Given the description of an element on the screen output the (x, y) to click on. 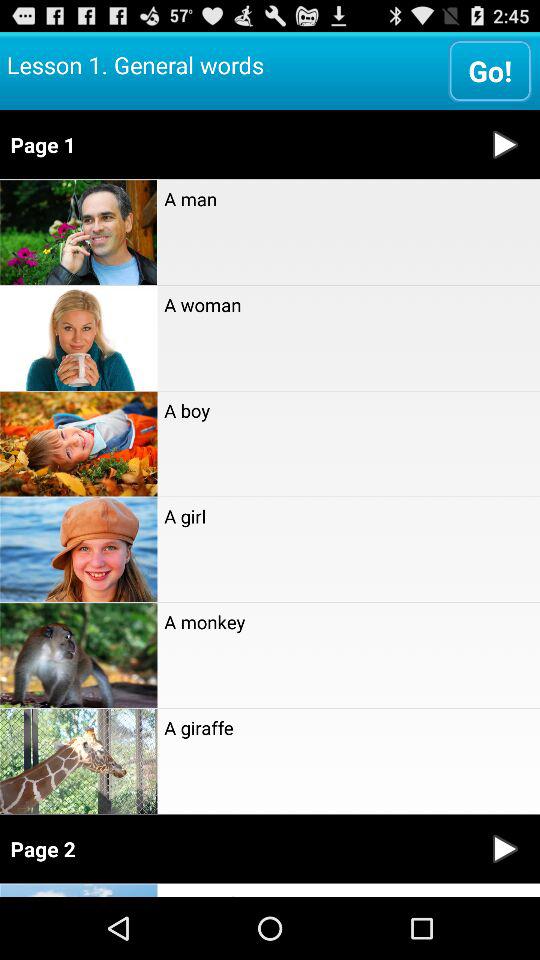
click a giraffe item (348, 727)
